Given the description of an element on the screen output the (x, y) to click on. 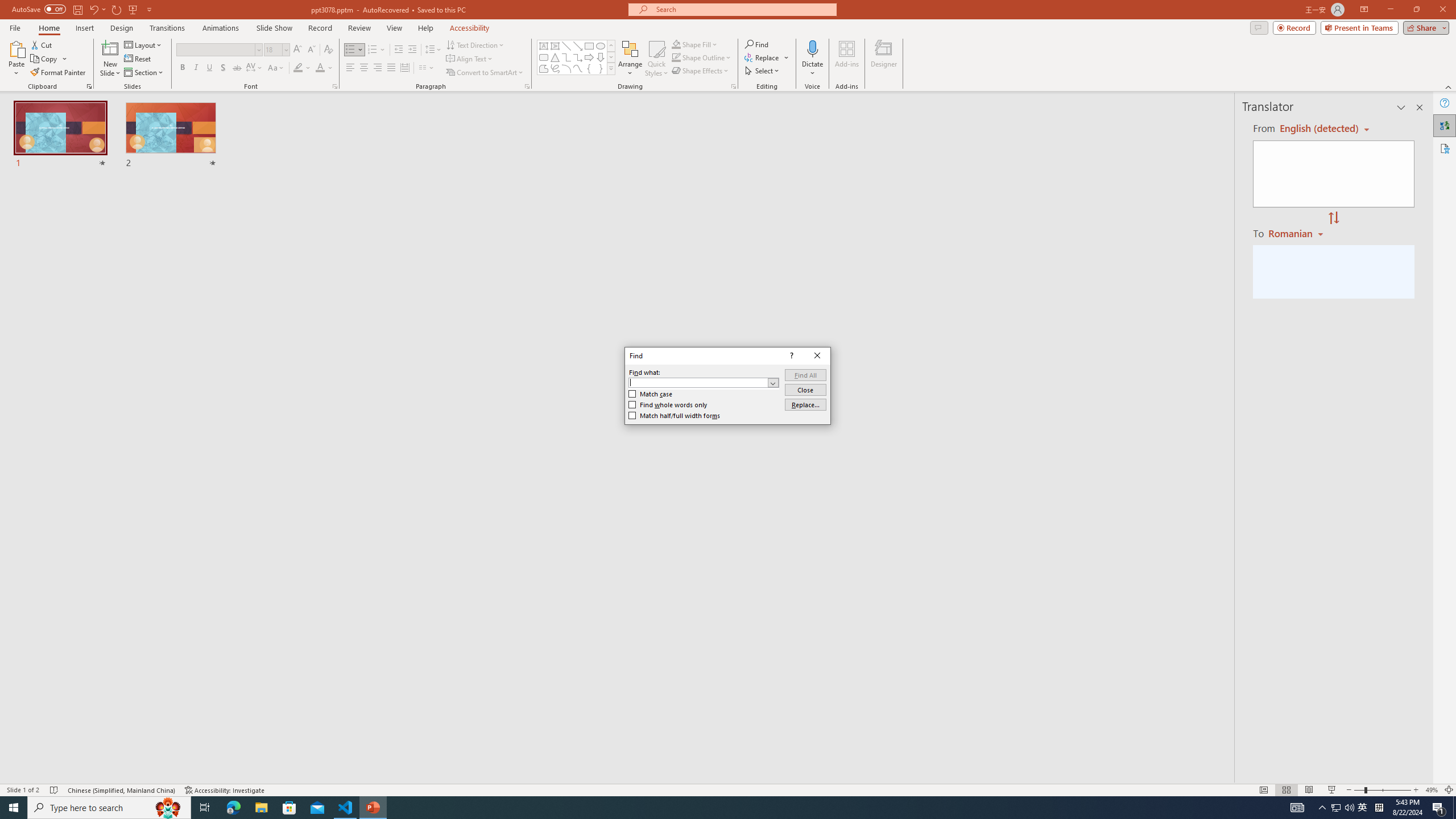
Find what (697, 382)
